Given the description of an element on the screen output the (x, y) to click on. 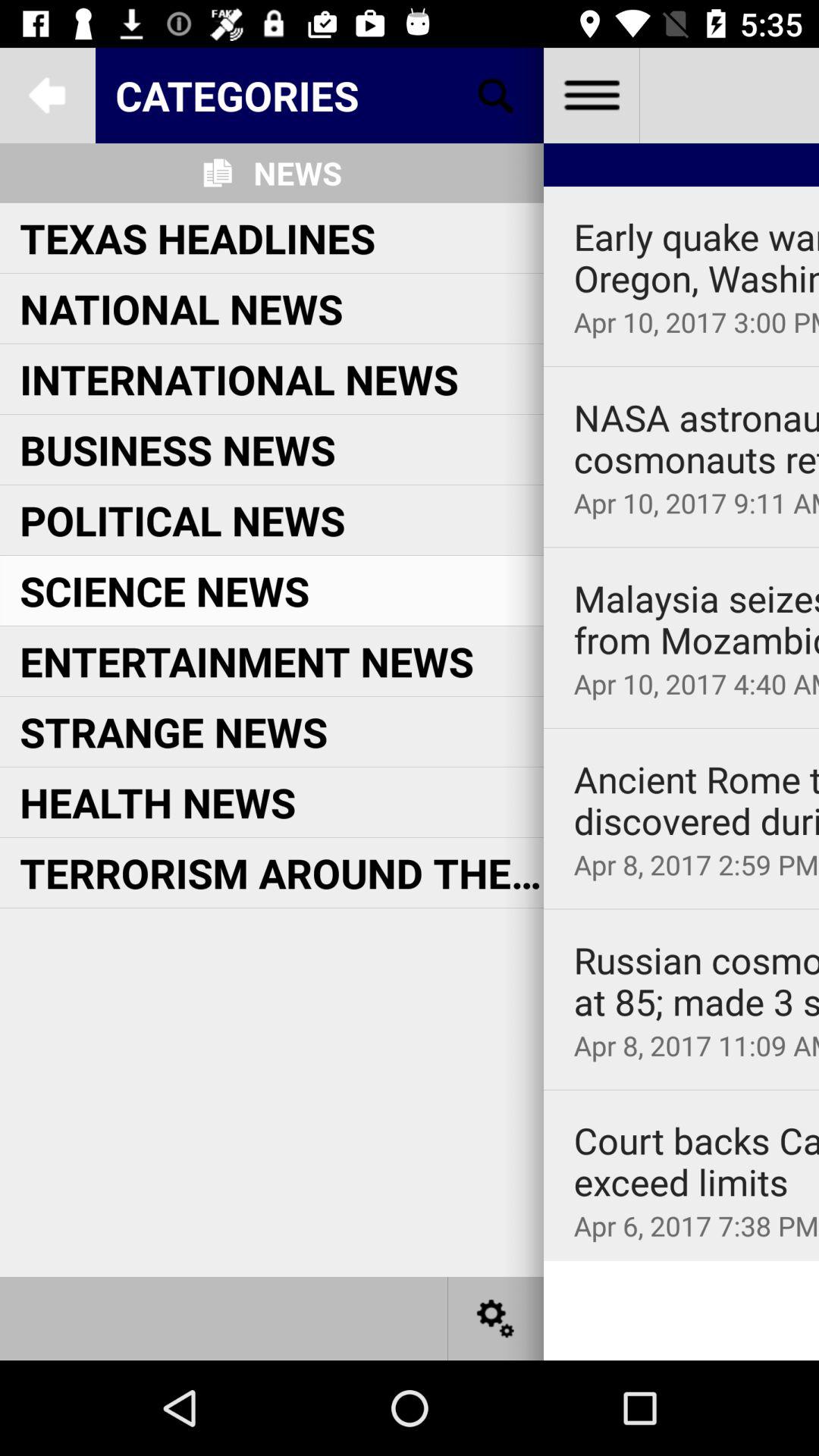
click arrow to go to previous screen or page (47, 95)
